Given the description of an element on the screen output the (x, y) to click on. 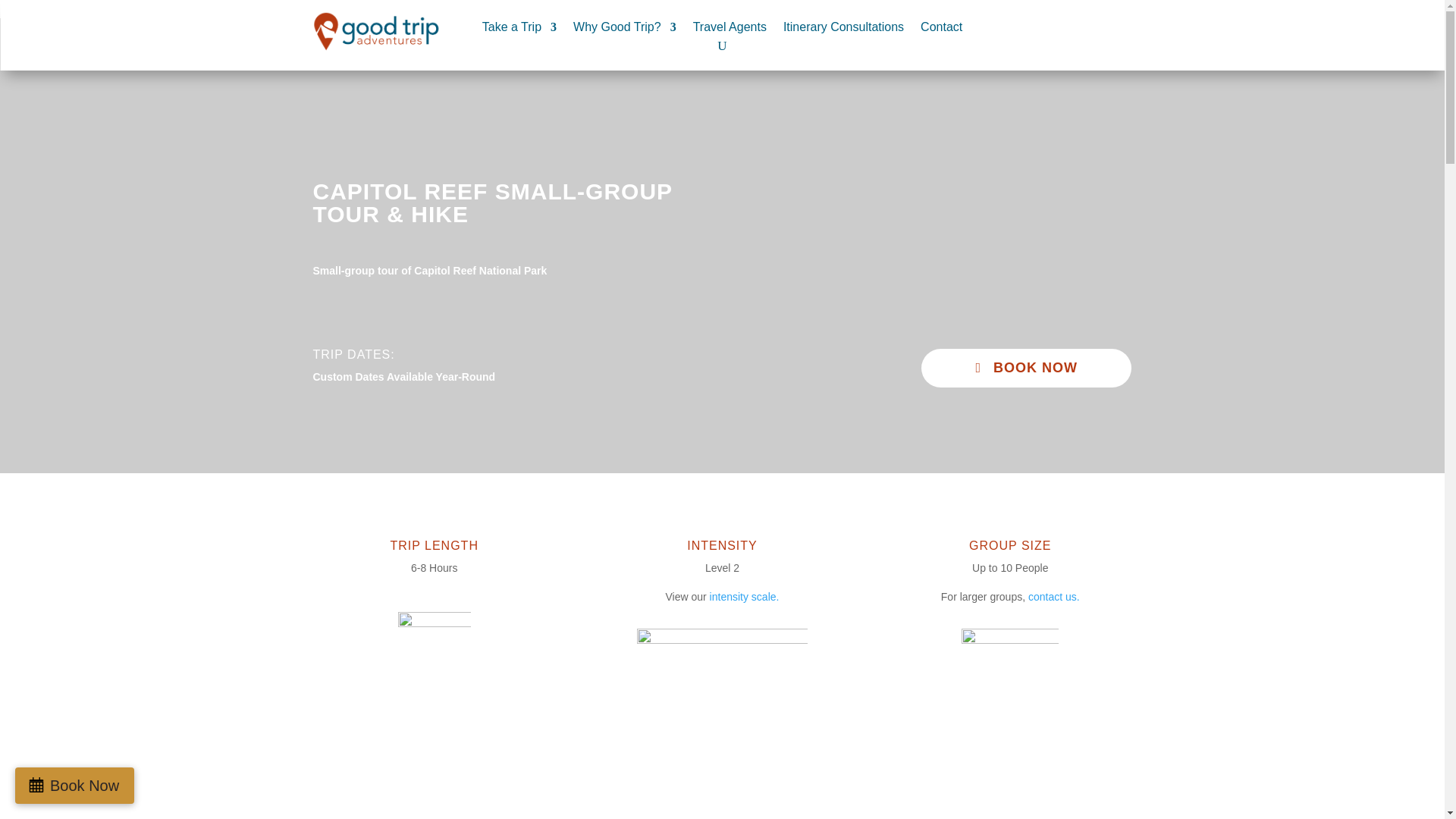
Take a Trip (518, 30)
